Given the description of an element on the screen output the (x, y) to click on. 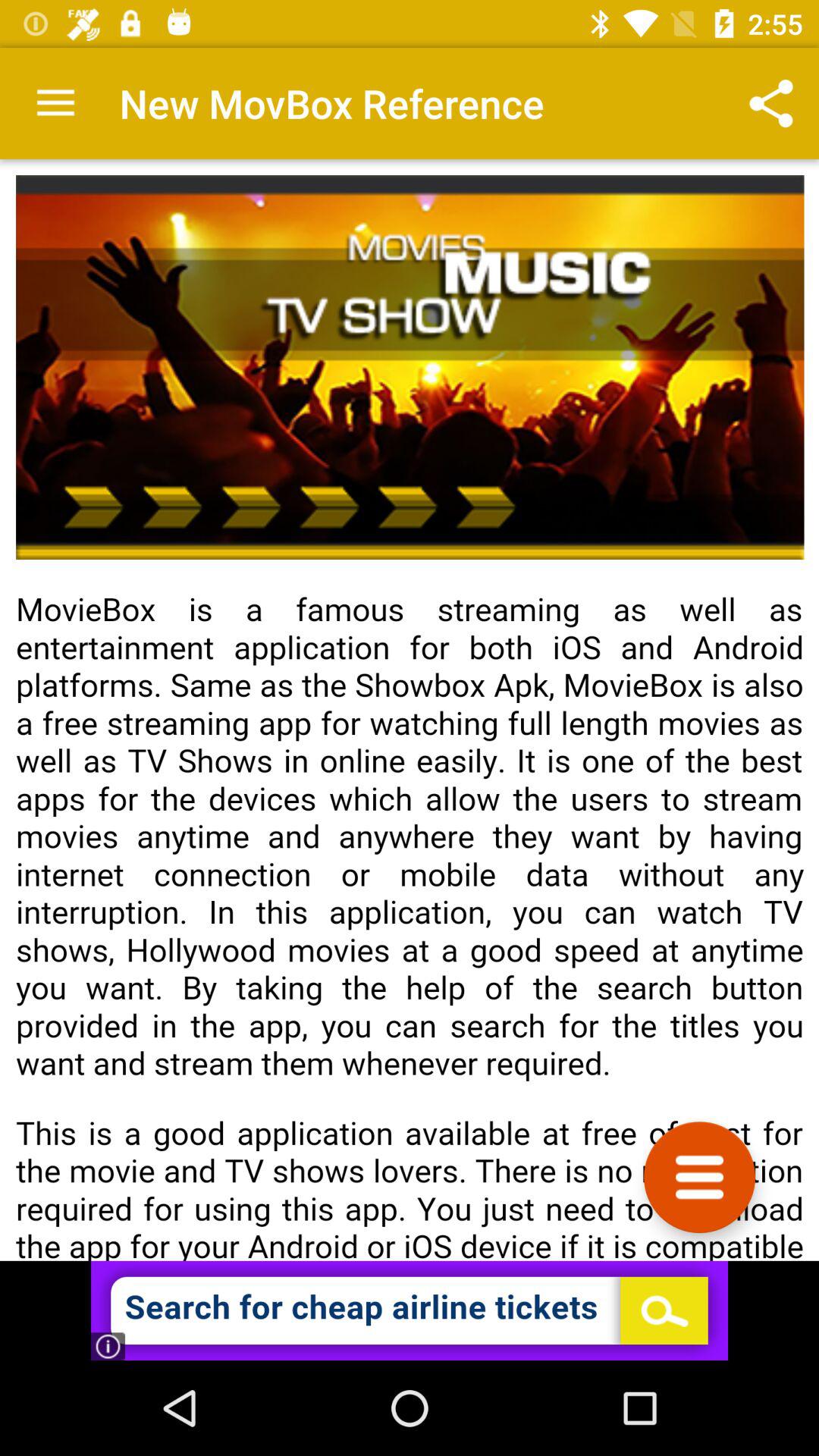
go to setting (699, 1177)
